Given the description of an element on the screen output the (x, y) to click on. 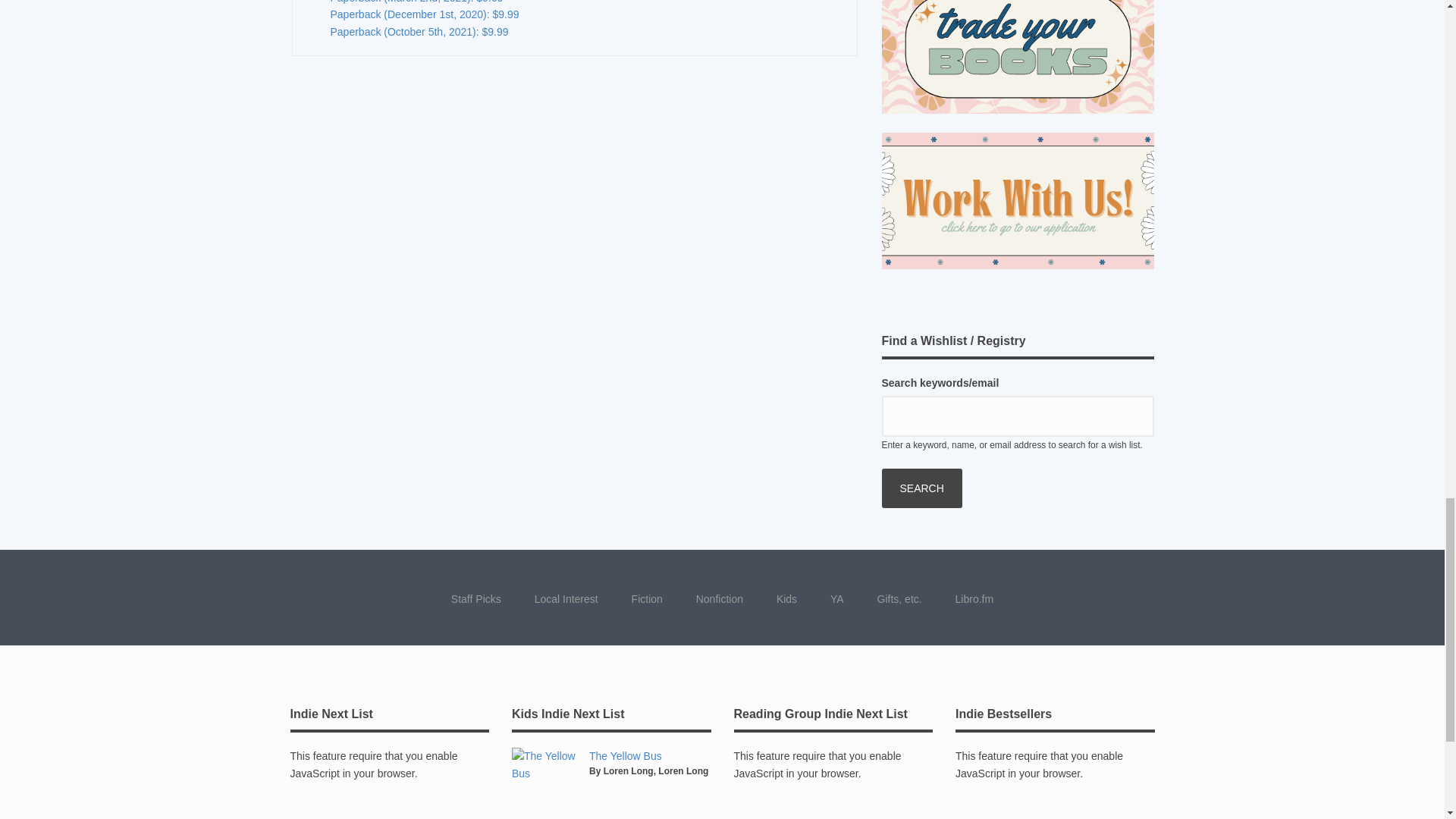
Search (920, 487)
